Given the description of an element on the screen output the (x, y) to click on. 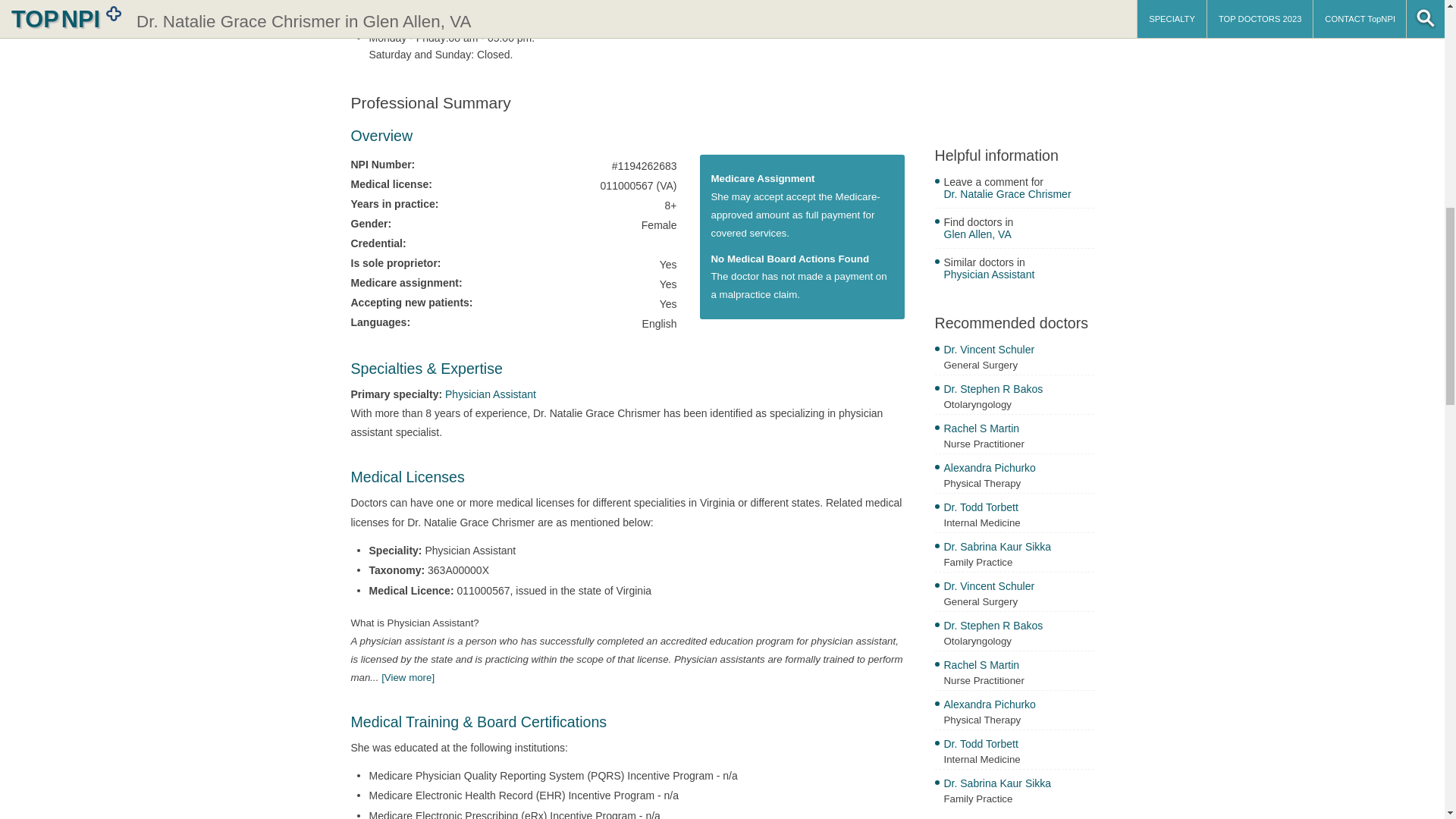
Physician Assistant (1018, 276)
Dr. Natalie Grace Chrismer (1018, 195)
Physician Assistant (490, 394)
Dr. Stephen R Bakos (1018, 627)
Dr. Vincent Schuler (1018, 587)
Rachel S Martin (1018, 666)
Physician Assistant (490, 394)
Alexandra Pichurko (1018, 469)
Alexandra Pichurko (1018, 706)
Dr. Sabrina Kaur Sikka (1018, 785)
